Given the description of an element on the screen output the (x, y) to click on. 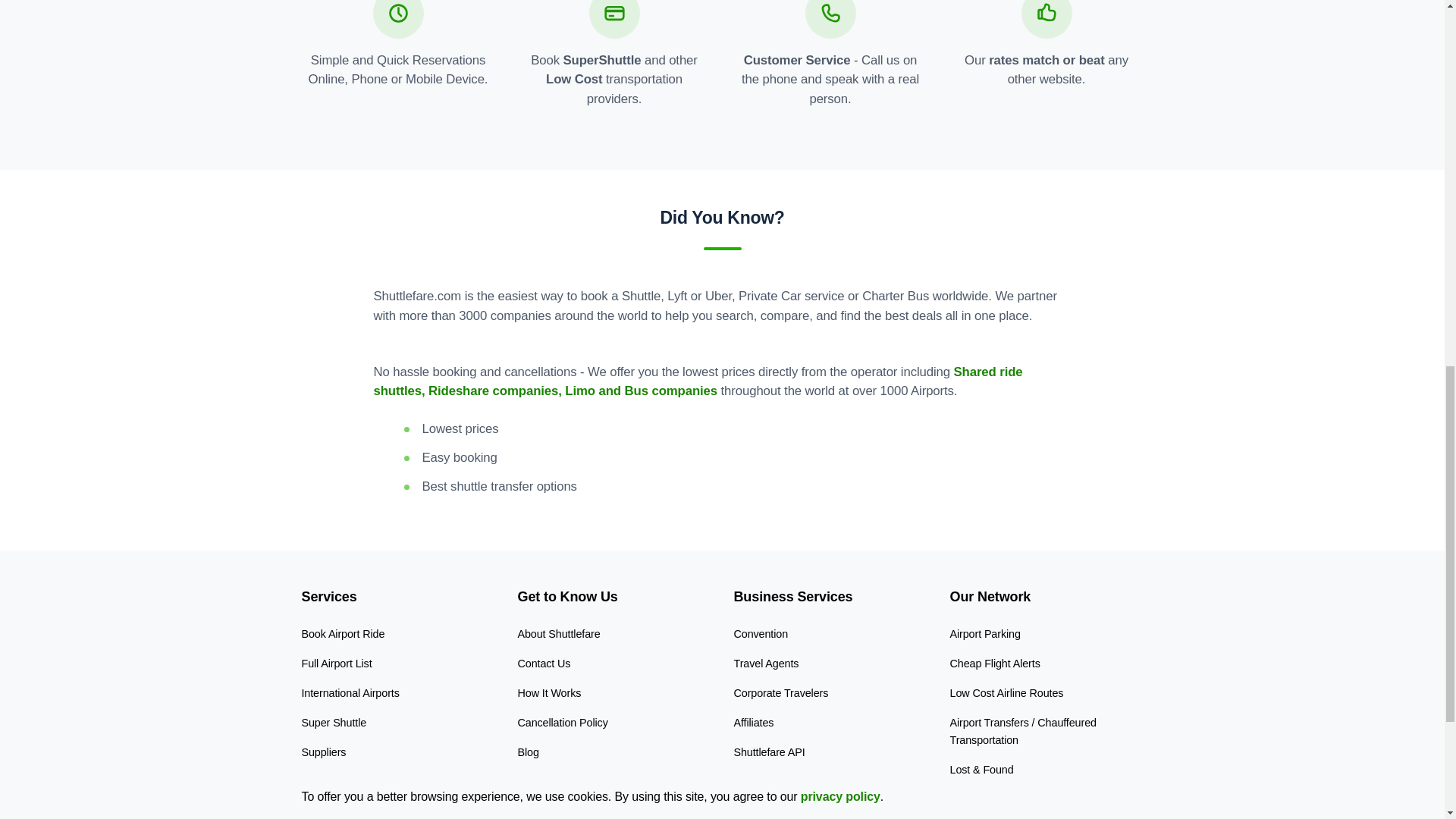
We're Hiring (545, 781)
Drive For Us (546, 811)
Suppliers (323, 752)
Blog (527, 752)
Book Airport Ride (343, 633)
Bus Companies (339, 781)
Super Shuttle (333, 722)
International Airports (349, 693)
Full Airport List (336, 663)
About Shuttlefare (557, 633)
How It Works (548, 693)
Contact Us (543, 663)
Cancellation Policy (561, 722)
Around town (331, 811)
